Given the description of an element on the screen output the (x, y) to click on. 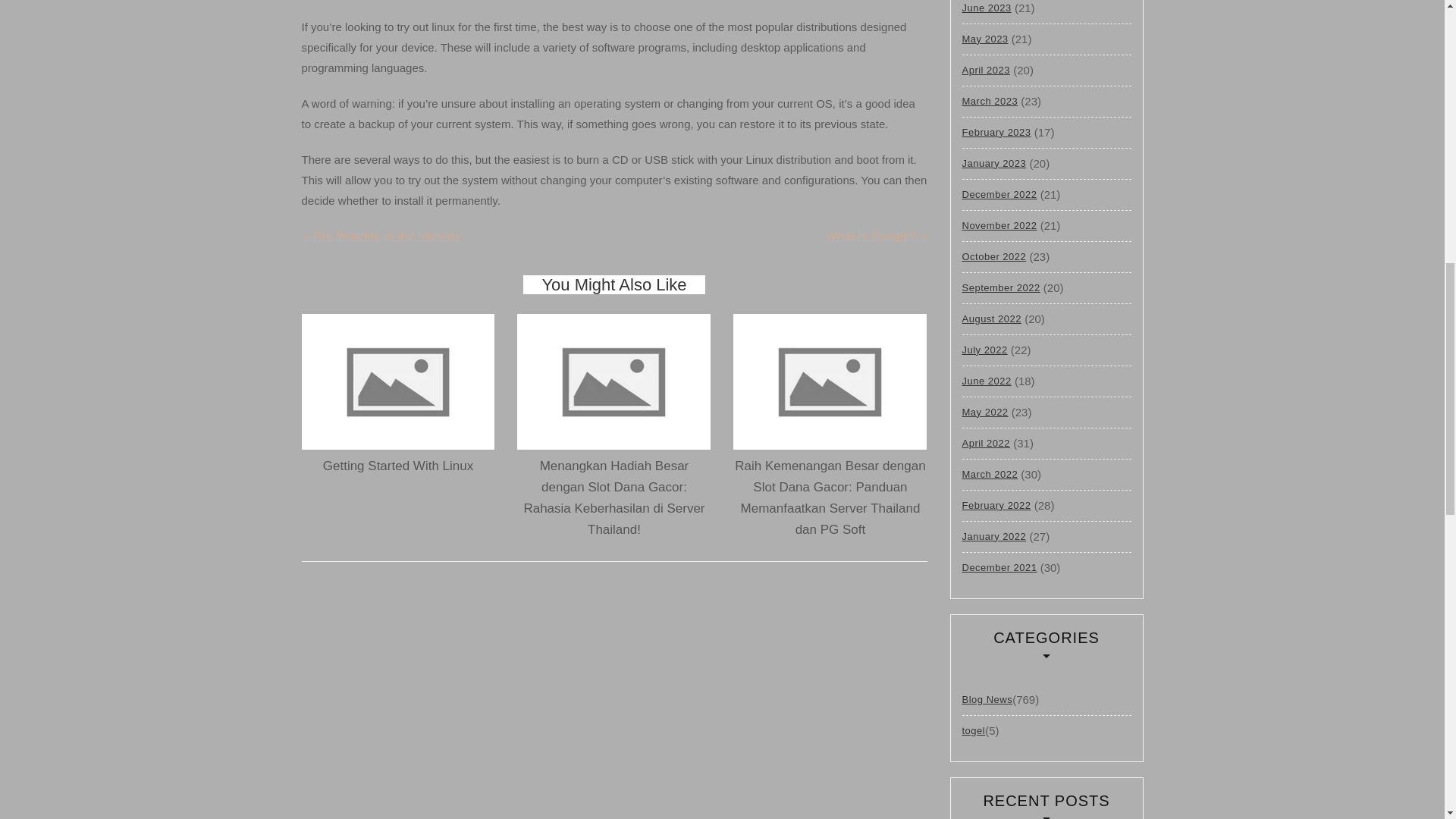
February 2023 (995, 132)
January 2023 (993, 163)
March 2023 (988, 101)
November 2022 (998, 225)
May 2023 (983, 39)
June 2023 (985, 11)
April 2023 (985, 69)
Getting Started With Linux (398, 465)
December 2022 (998, 194)
